Given the description of an element on the screen output the (x, y) to click on. 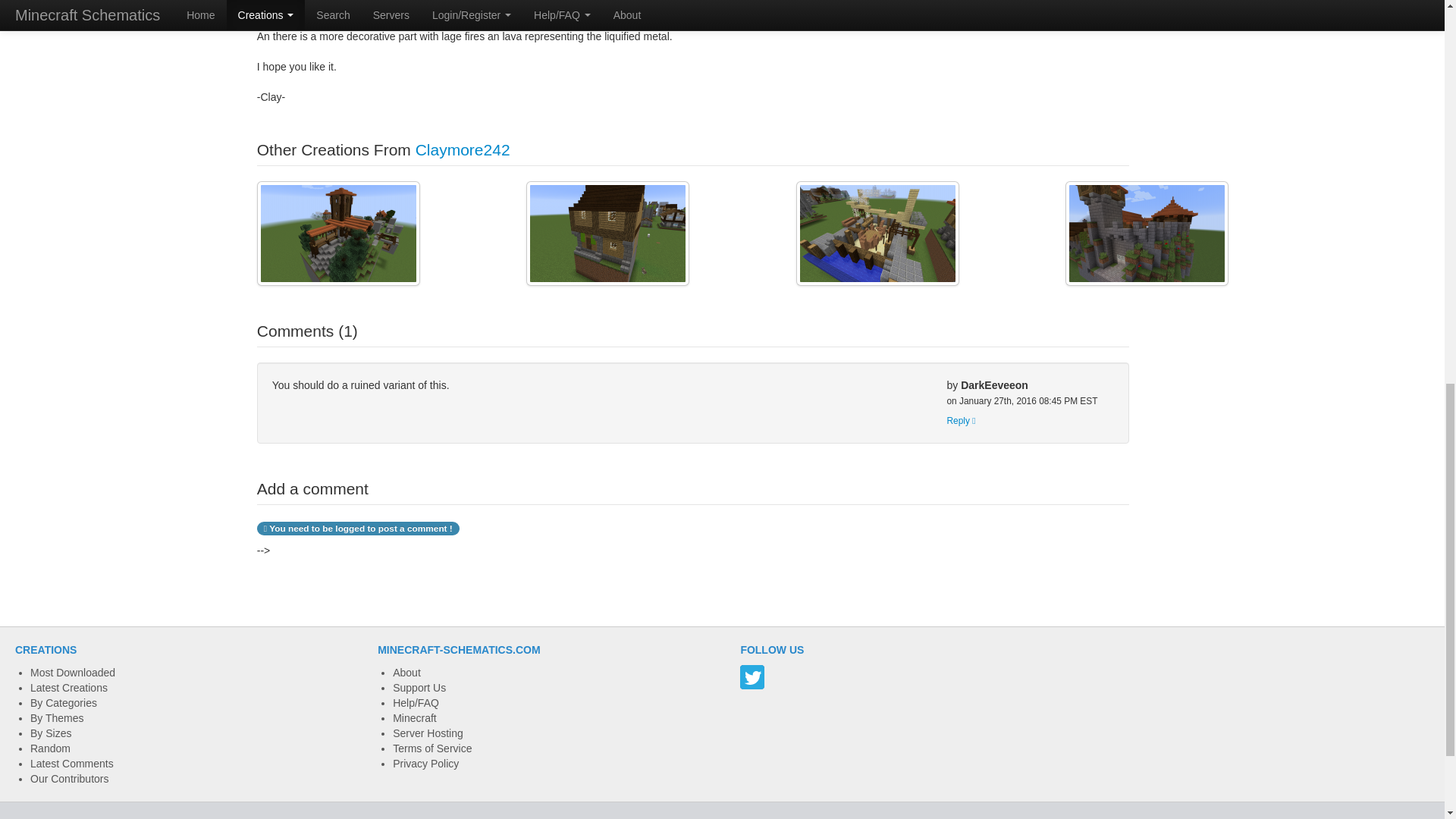
Castle: "Schoenfels" (1146, 232)
mining plant (338, 232)
Shipyard (877, 232)
townhouse (606, 232)
Reply (960, 420)
Twitter (751, 677)
